Given the description of an element on the screen output the (x, y) to click on. 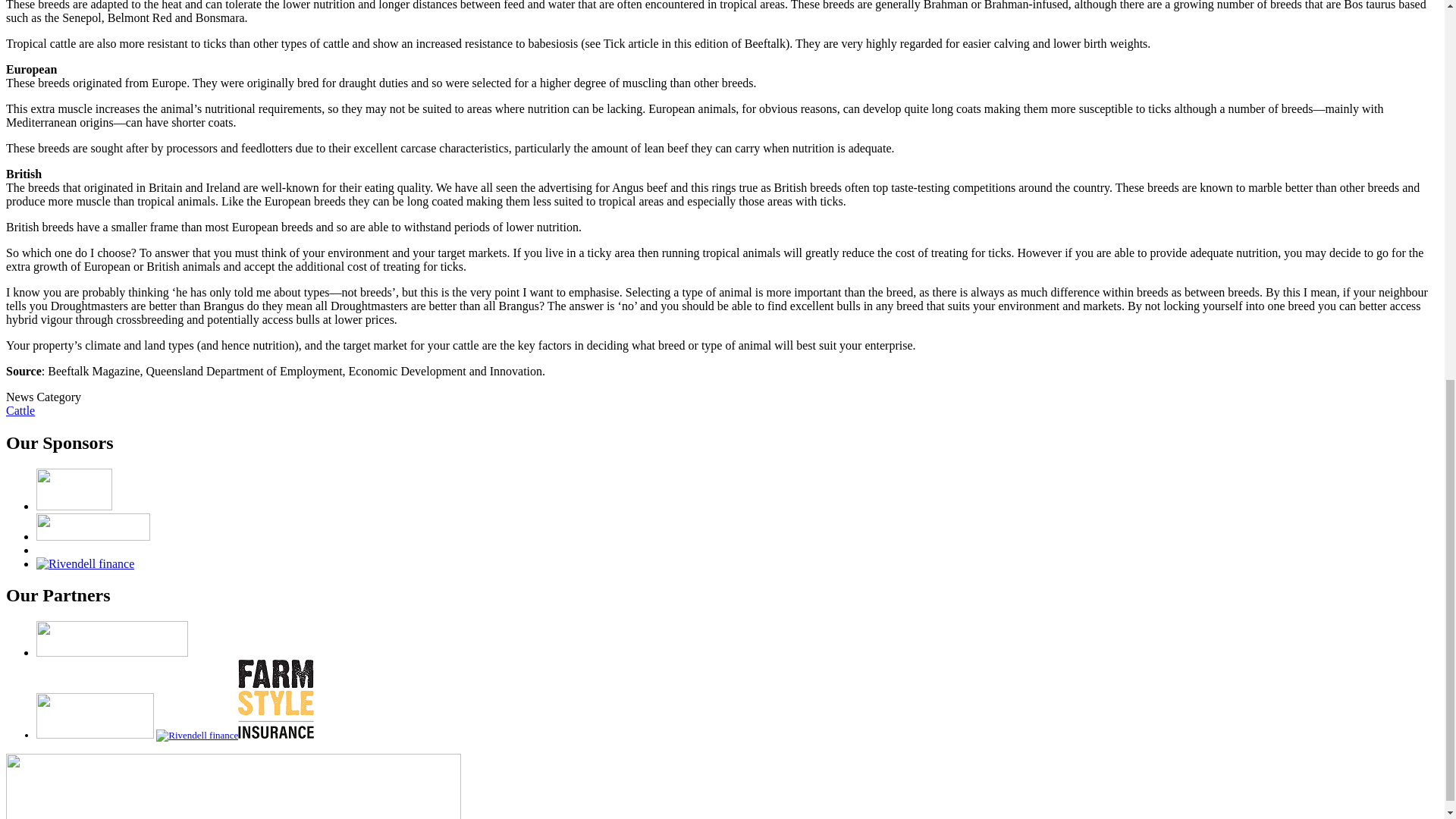
Cattle (19, 410)
